Given the description of an element on the screen output the (x, y) to click on. 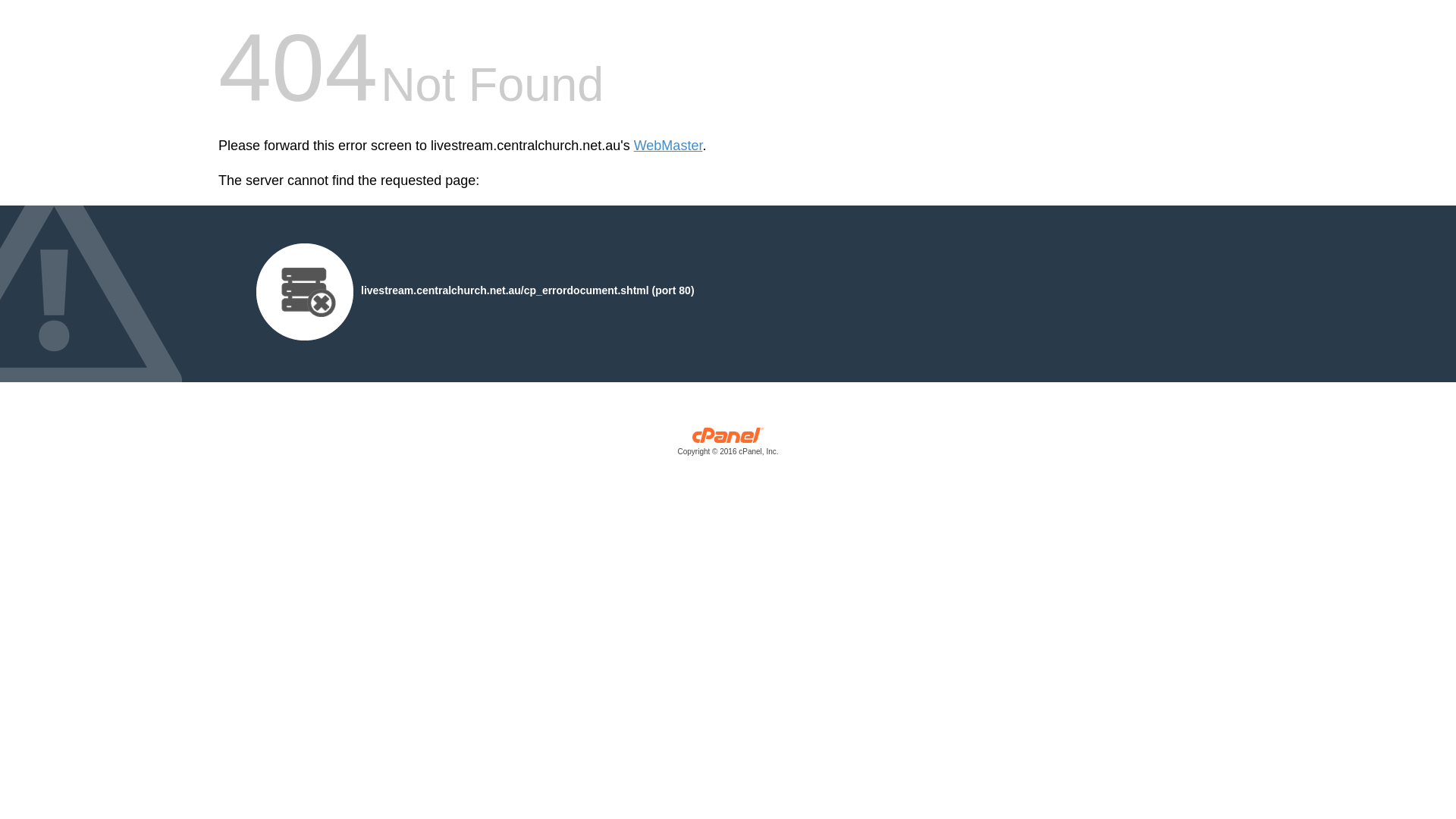
WebMaster Element type: text (667, 145)
